Given the description of an element on the screen output the (x, y) to click on. 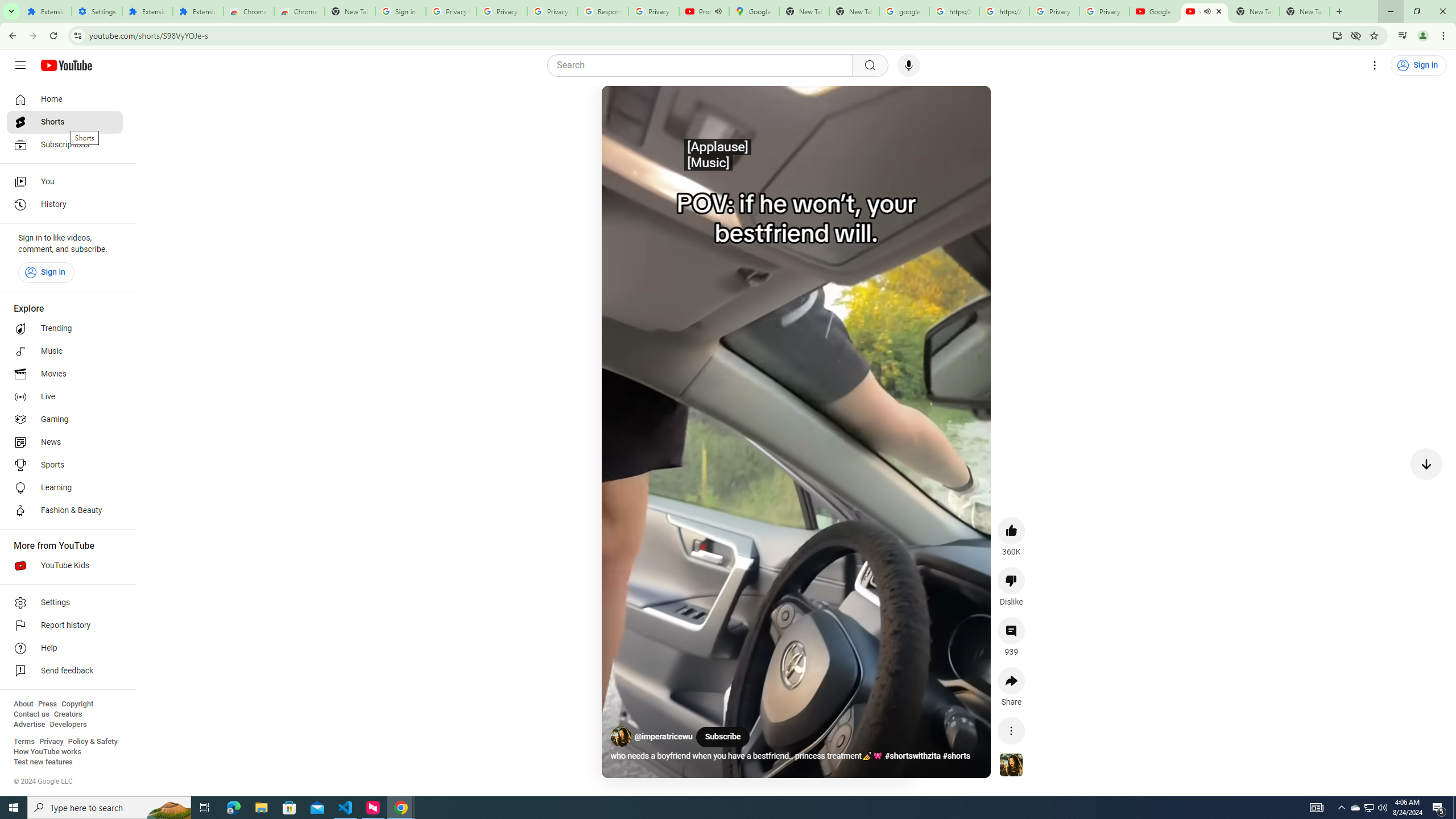
Install YouTube (1336, 35)
Gaming (64, 419)
Developers (68, 724)
New Tab (350, 11)
Extensions (46, 11)
Search with your voice (908, 65)
New Tab (1304, 11)
#shortswithzita (911, 756)
View 939 comments (1011, 630)
Press (46, 703)
